Given the description of an element on the screen output the (x, y) to click on. 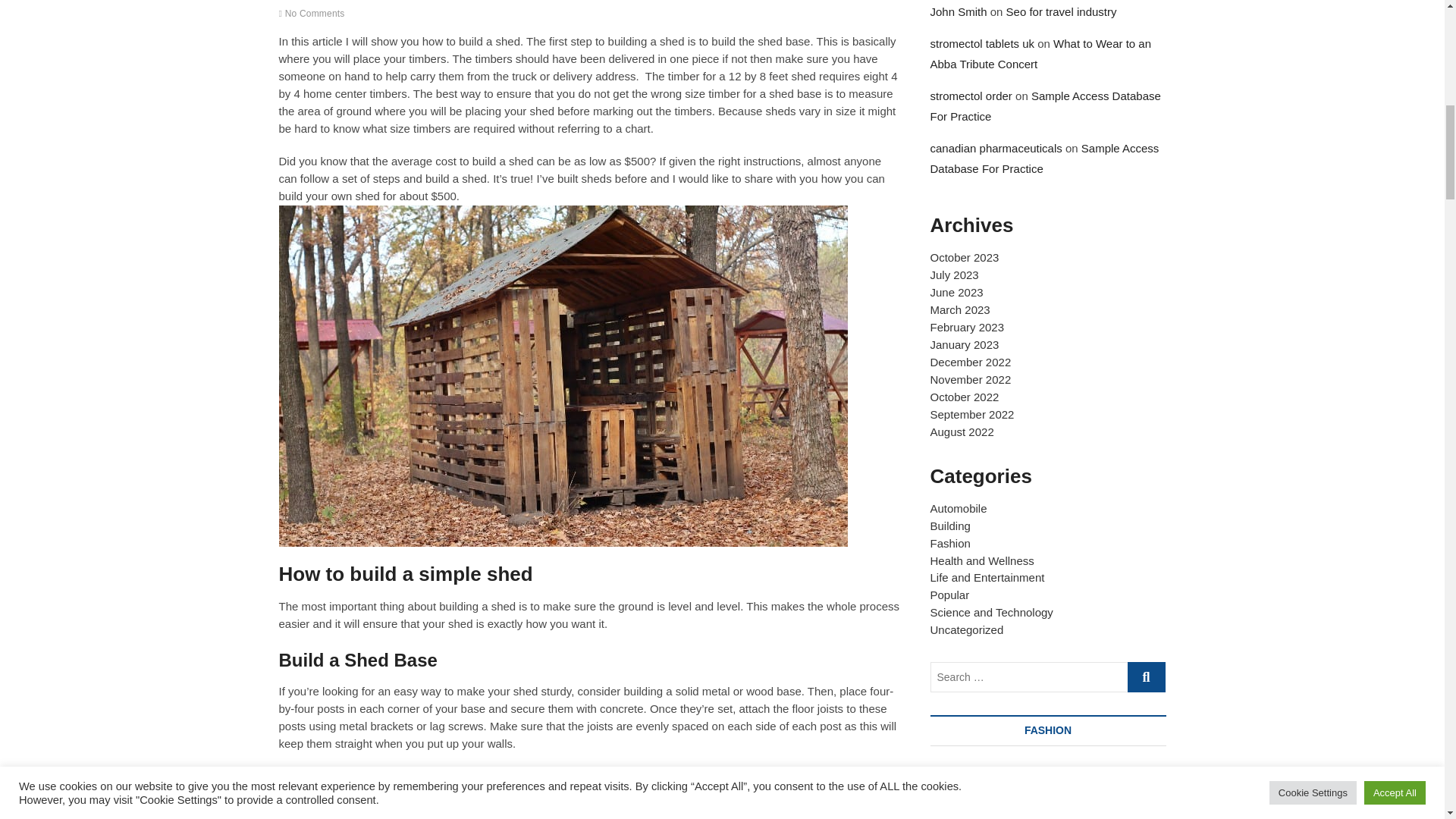
No Comments (312, 13)
